Given the description of an element on the screen output the (x, y) to click on. 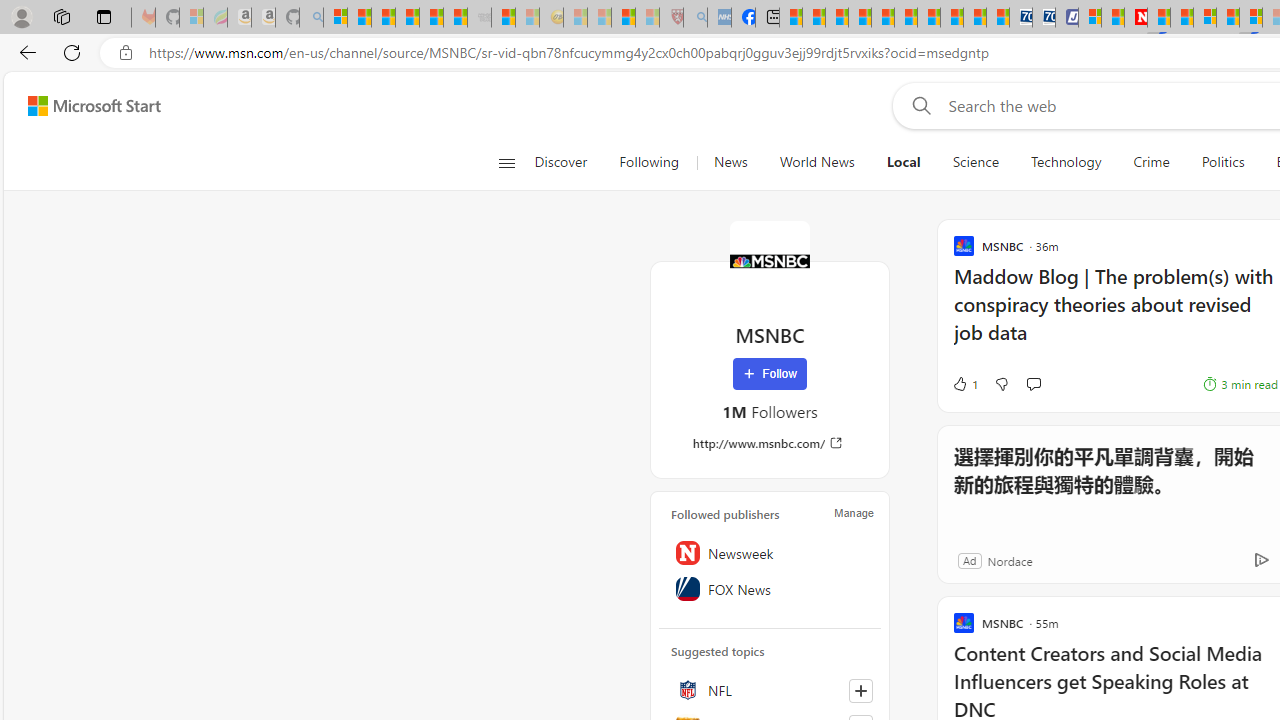
MSNBC (769, 260)
Combat Siege - Sleeping (479, 17)
